Given the description of an element on the screen output the (x, y) to click on. 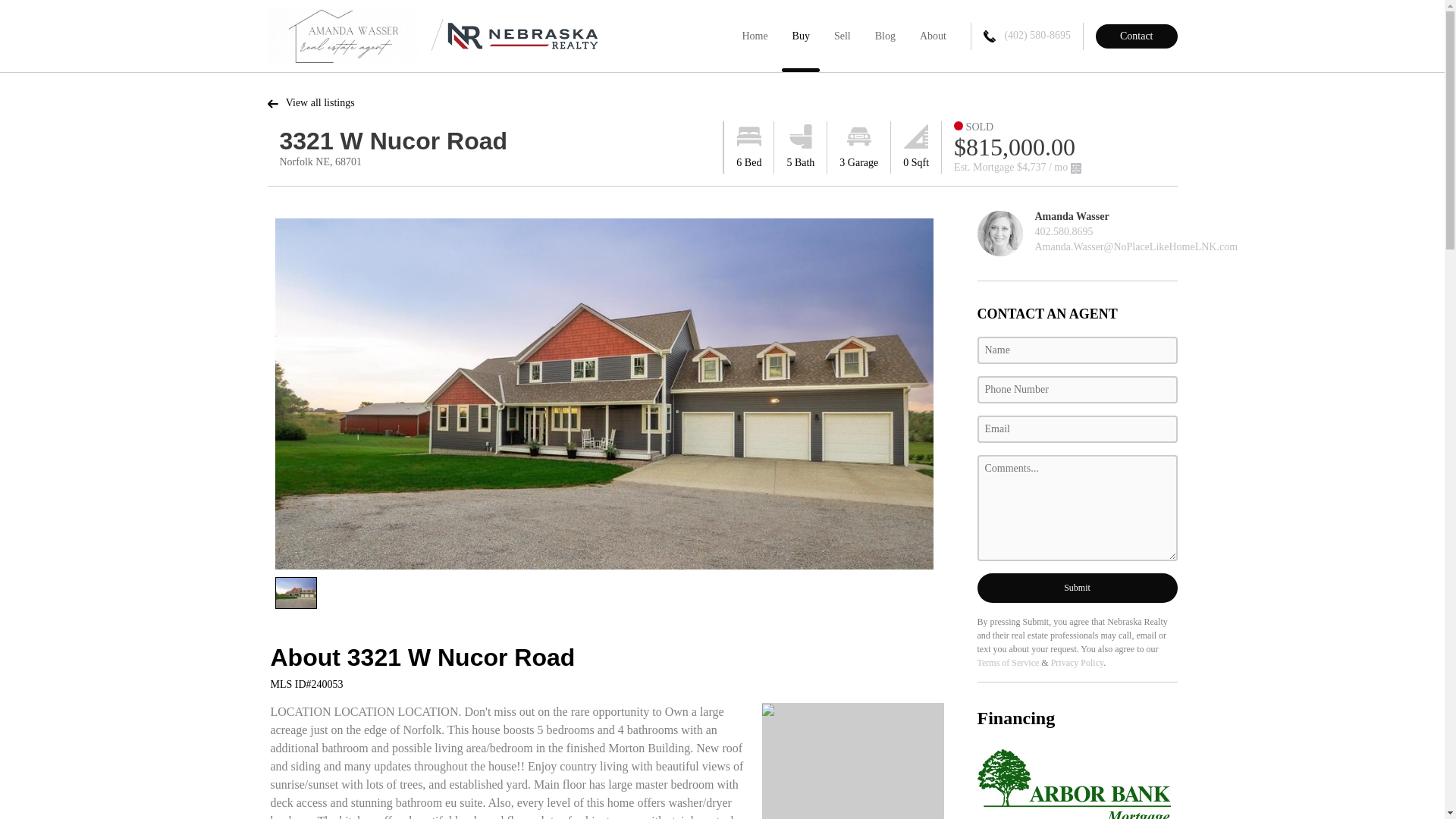
  View all listings (309, 102)
Submit (1076, 587)
Contact (1136, 36)
402.580.8695 (1063, 232)
Terms of Service (1007, 662)
Privacy Policy (1077, 662)
